Given the description of an element on the screen output the (x, y) to click on. 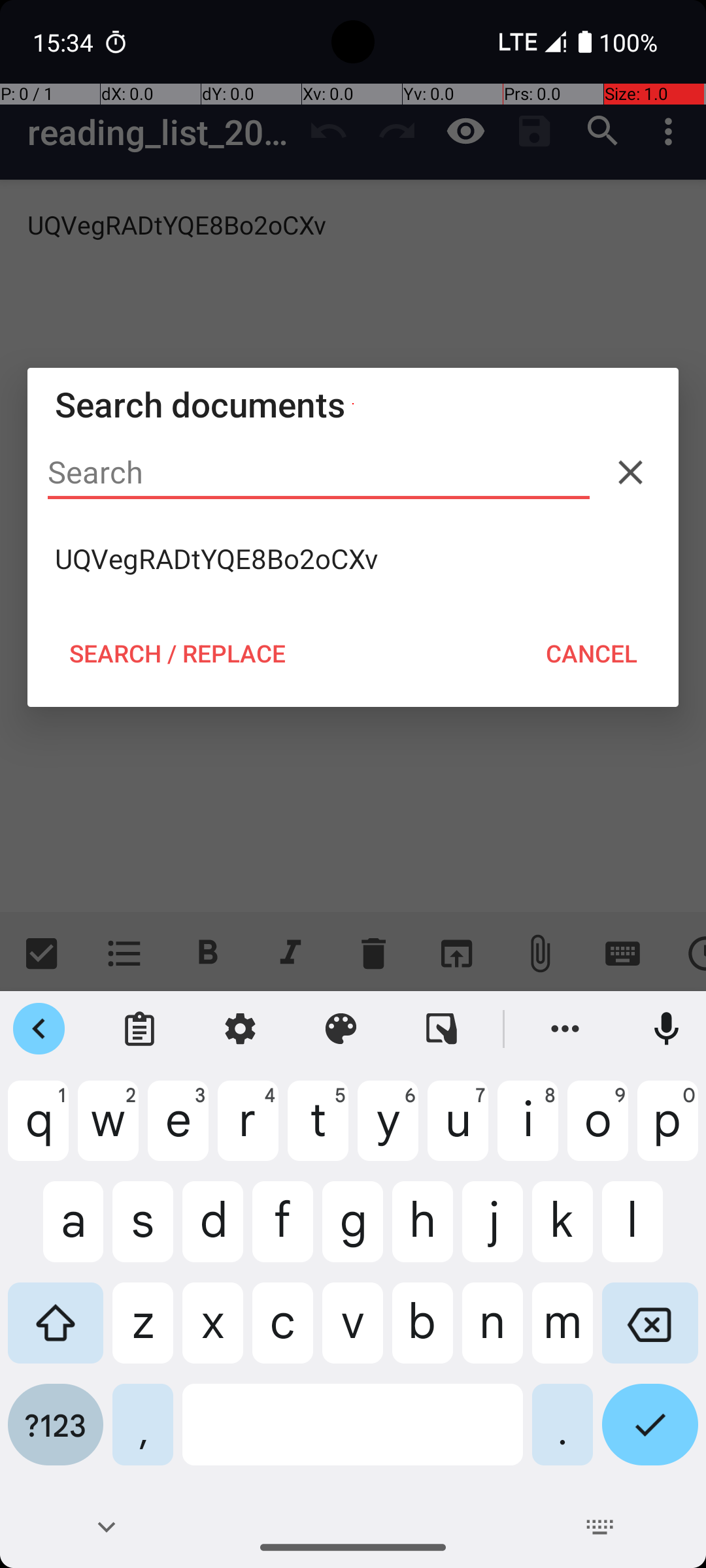
UQVegRADtYQE8Bo2oCXv Element type: android.widget.TextView (352, 558)
